Given the description of an element on the screen output the (x, y) to click on. 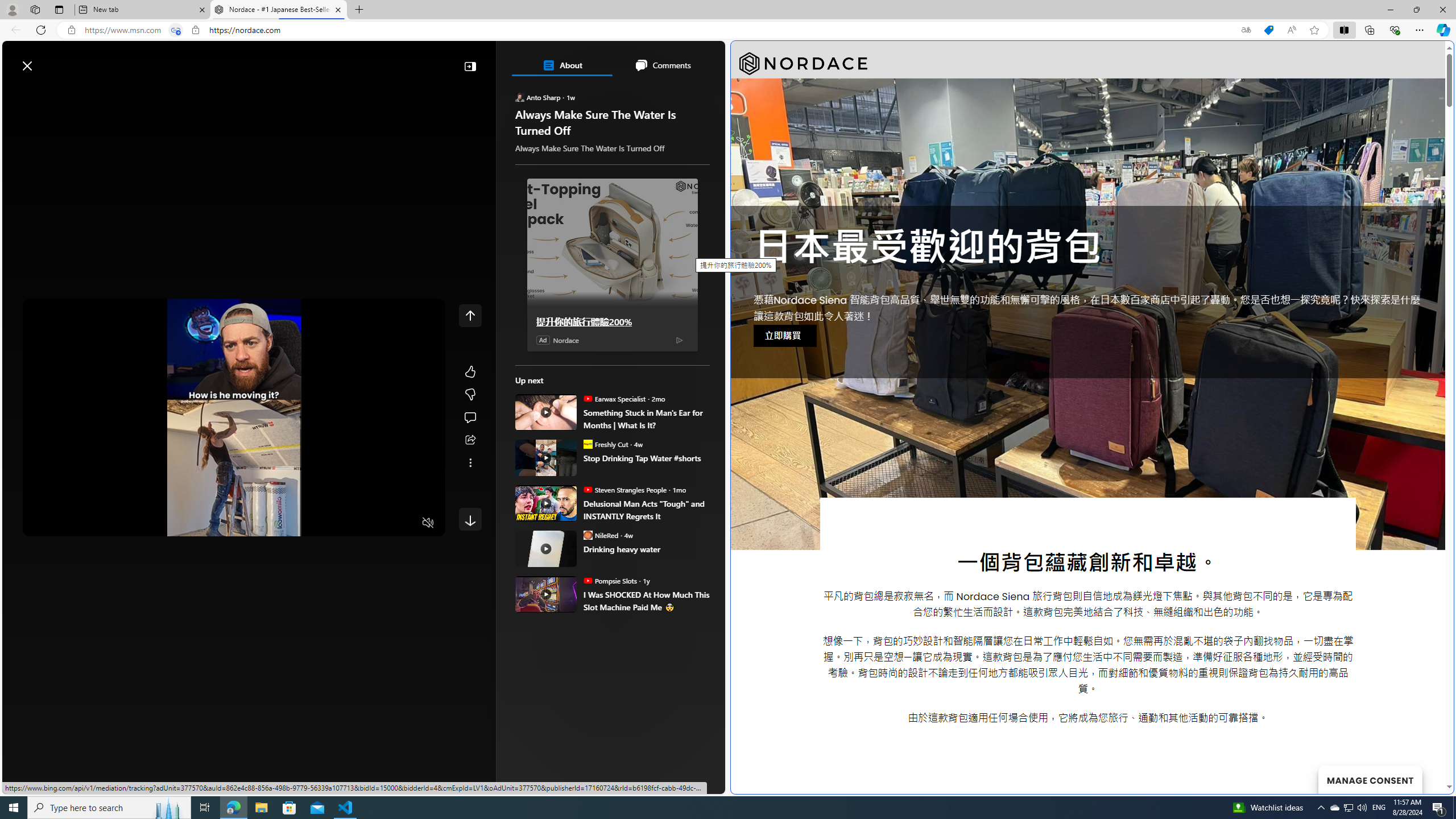
More like thisFewer like thisStart the conversation (469, 394)
Like (469, 371)
Open navigation menu (16, 92)
Class: button-glyph (16, 92)
Collapse (469, 65)
Earwax Specialist Earwax Specialist (614, 397)
Freshly Cut Freshly Cut (605, 443)
